Given the description of an element on the screen output the (x, y) to click on. 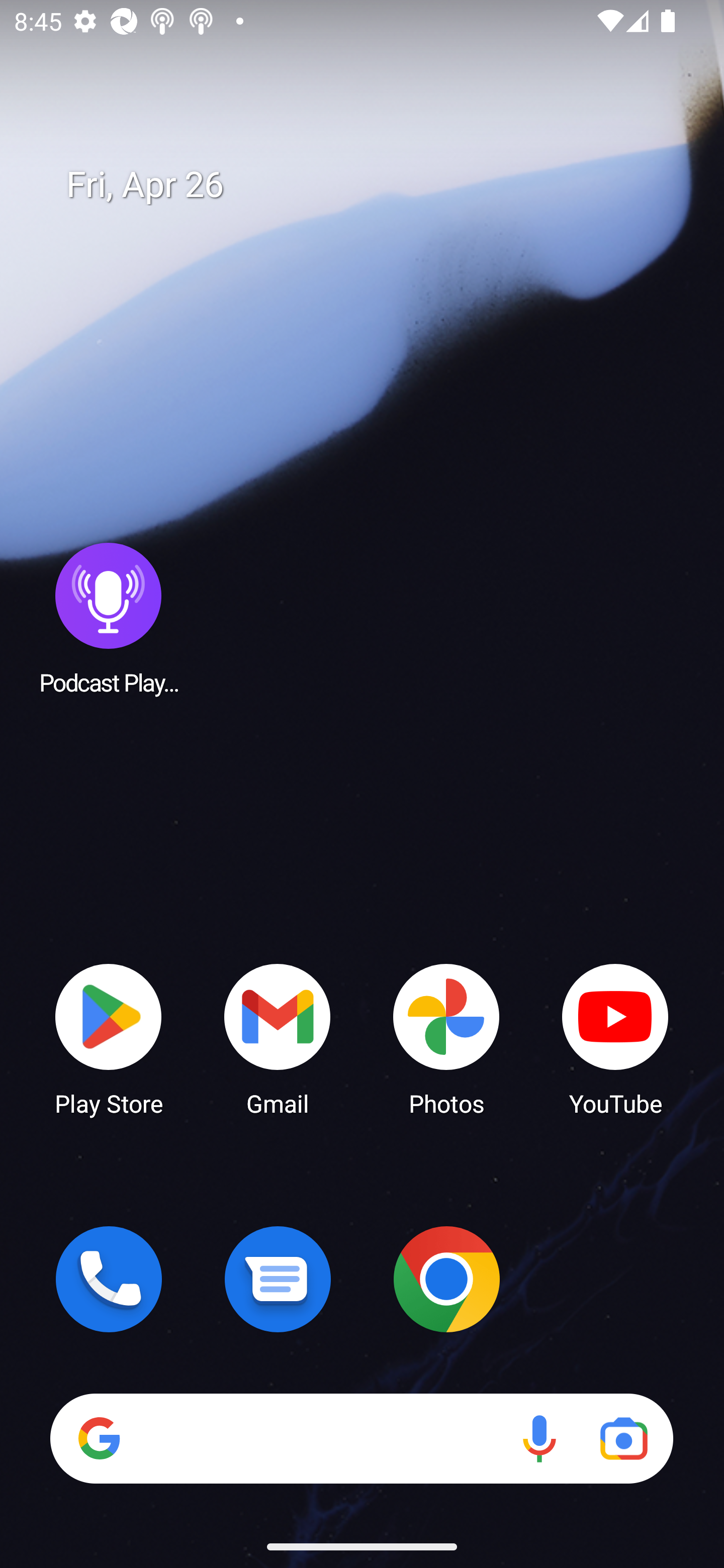
Fri, Apr 26 (375, 184)
Podcast Player (108, 617)
Play Store (108, 1038)
Gmail (277, 1038)
Photos (445, 1038)
YouTube (615, 1038)
Phone (108, 1279)
Messages (277, 1279)
Chrome (446, 1279)
Search Voice search Google Lens (361, 1438)
Voice search (539, 1438)
Google Lens (623, 1438)
